Given the description of an element on the screen output the (x, y) to click on. 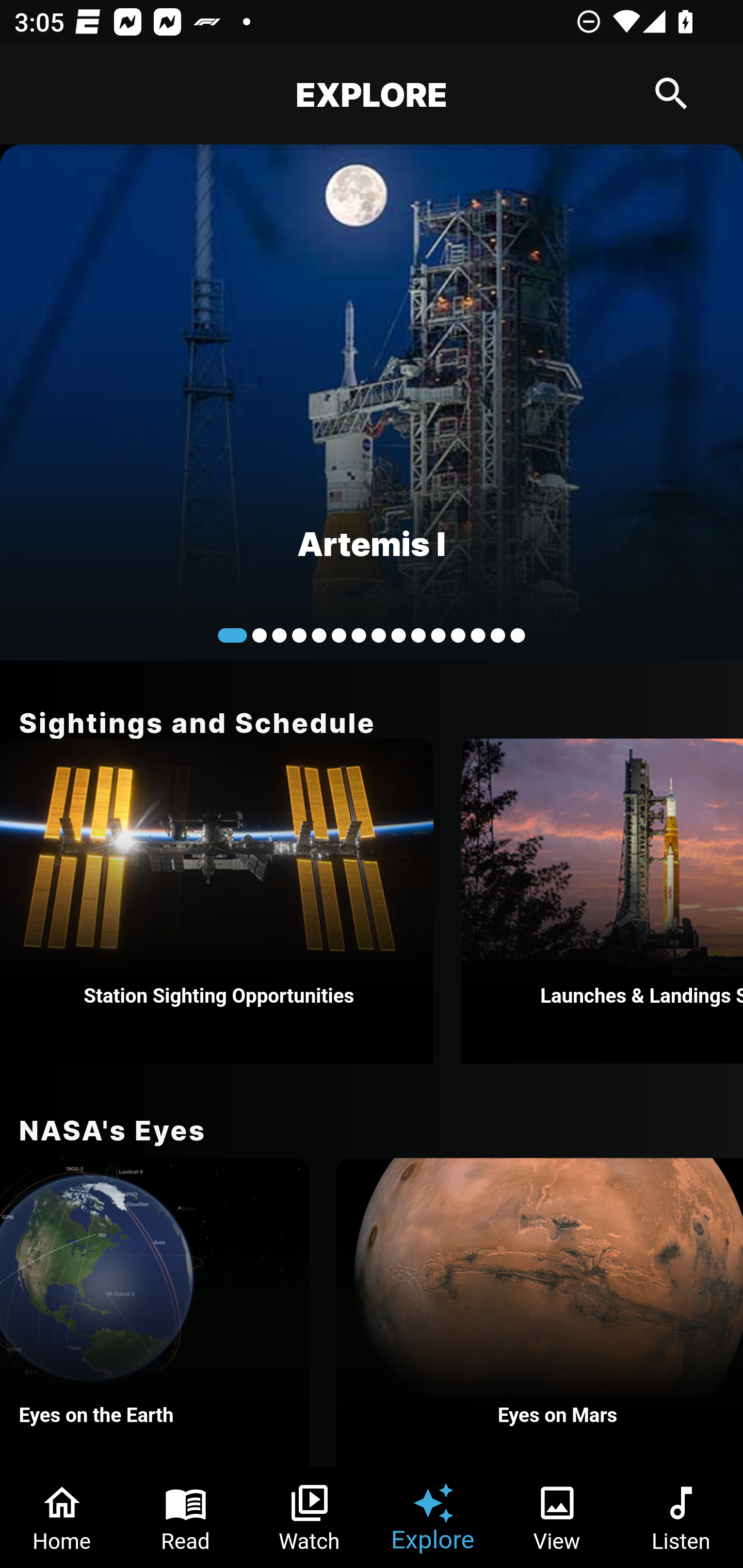
Artemis I
Hello World (371, 402)
Station Sighting Opportunities (216, 900)
Launches & Landings Schedule (601, 900)
Eyes on the Earth (154, 1312)
Eyes on Mars (539, 1312)
Home
Tab 1 of 6 (62, 1517)
Read
Tab 2 of 6 (185, 1517)
Watch
Tab 3 of 6 (309, 1517)
Explore
Tab 4 of 6 (433, 1517)
View
Tab 5 of 6 (556, 1517)
Listen
Tab 6 of 6 (680, 1517)
